Given the description of an element on the screen output the (x, y) to click on. 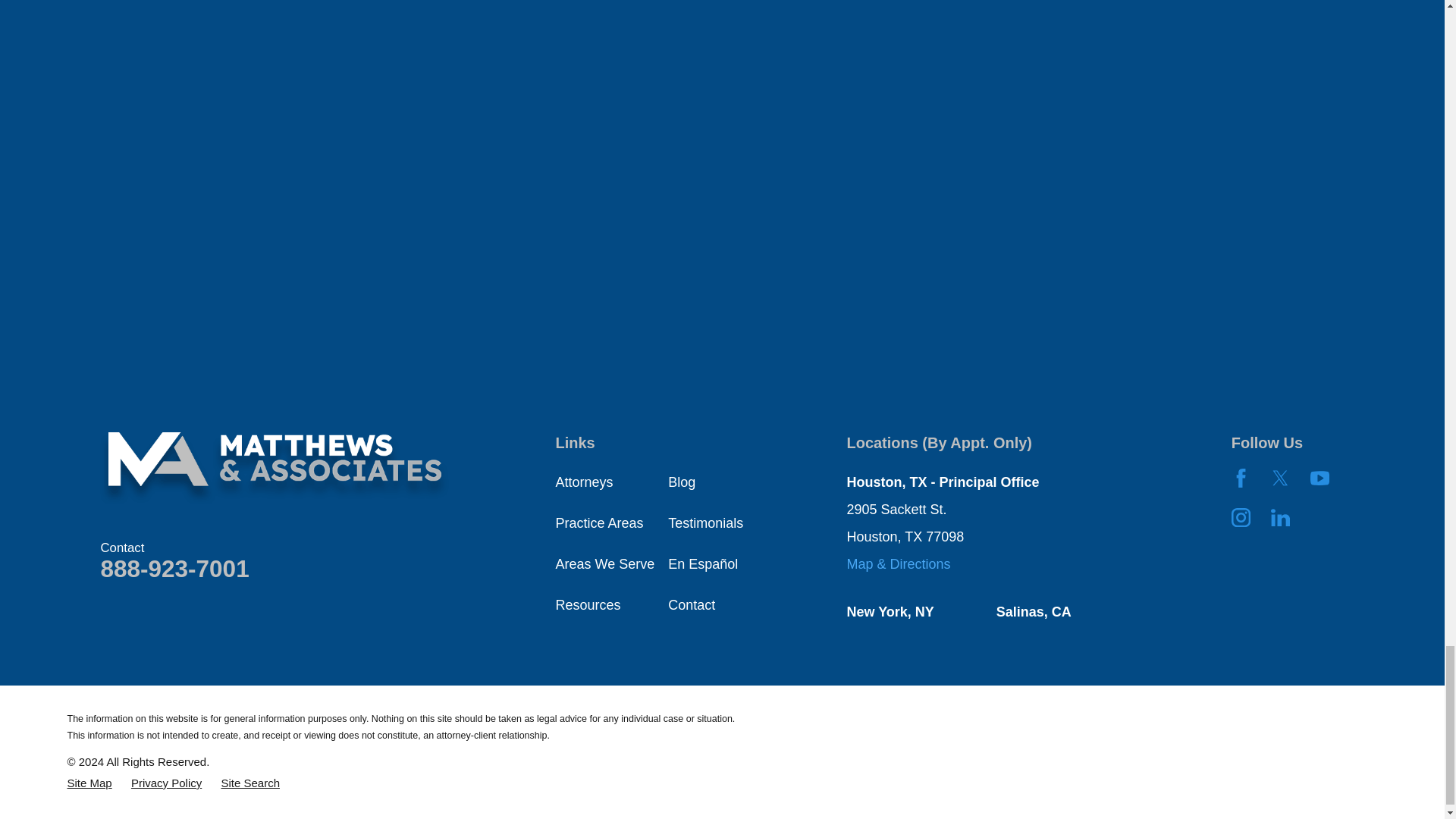
Home (274, 468)
YouTube (1319, 477)
Twitter (1280, 477)
Facebook (1240, 477)
LinkedIn (1280, 517)
Instagram (1240, 517)
